Given the description of an element on the screen output the (x, y) to click on. 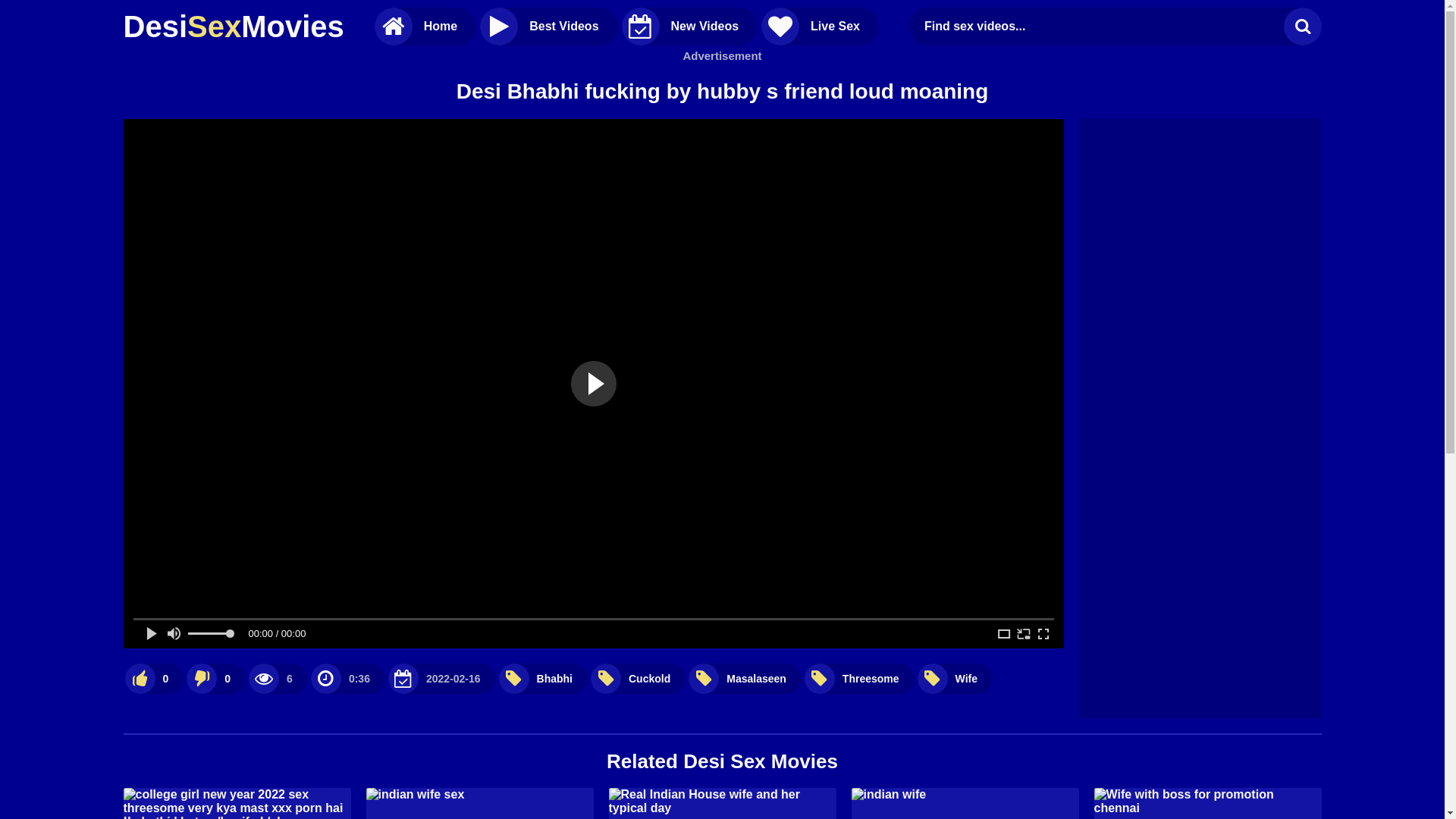
Search Element type: hover (1302, 26)
0 Element type: text (215, 677)
Best Videos Element type: text (548, 26)
0 Element type: text (153, 677)
Masalaseen Element type: text (744, 677)
Threesome Element type: text (859, 677)
Bhabhi Element type: text (542, 677)
Wife Element type: text (954, 677)
New Videos Element type: text (689, 26)
DesiSexMovies Element type: text (232, 26)
Cuckold Element type: text (637, 677)
Use Latin letters, digits, space, - Element type: hover (1100, 26)
Home Element type: text (425, 26)
Live Sex Element type: text (819, 26)
